Given the description of an element on the screen output the (x, y) to click on. 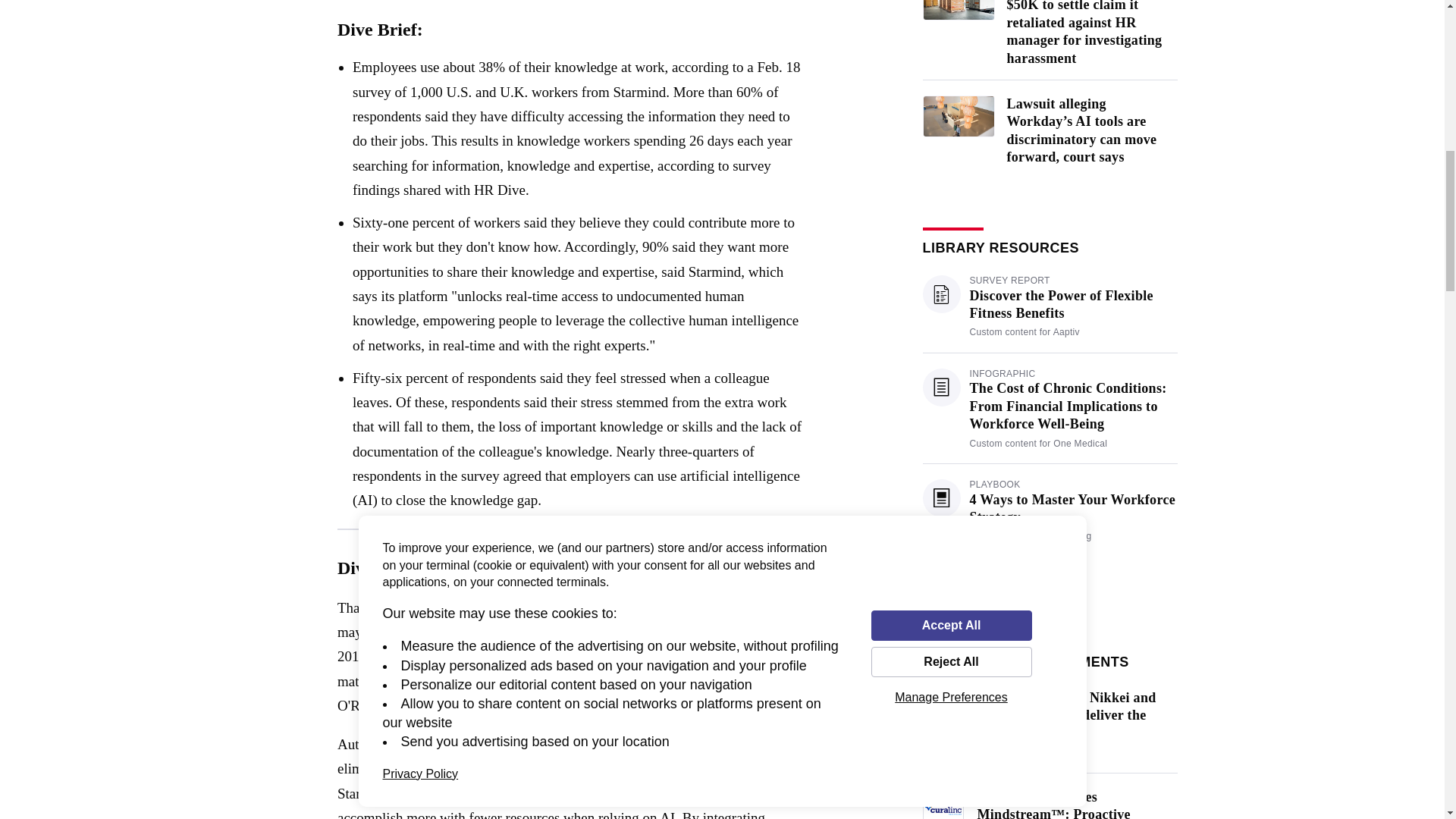
survey (389, 656)
report from the Hackett Group (569, 793)
